Given the description of an element on the screen output the (x, y) to click on. 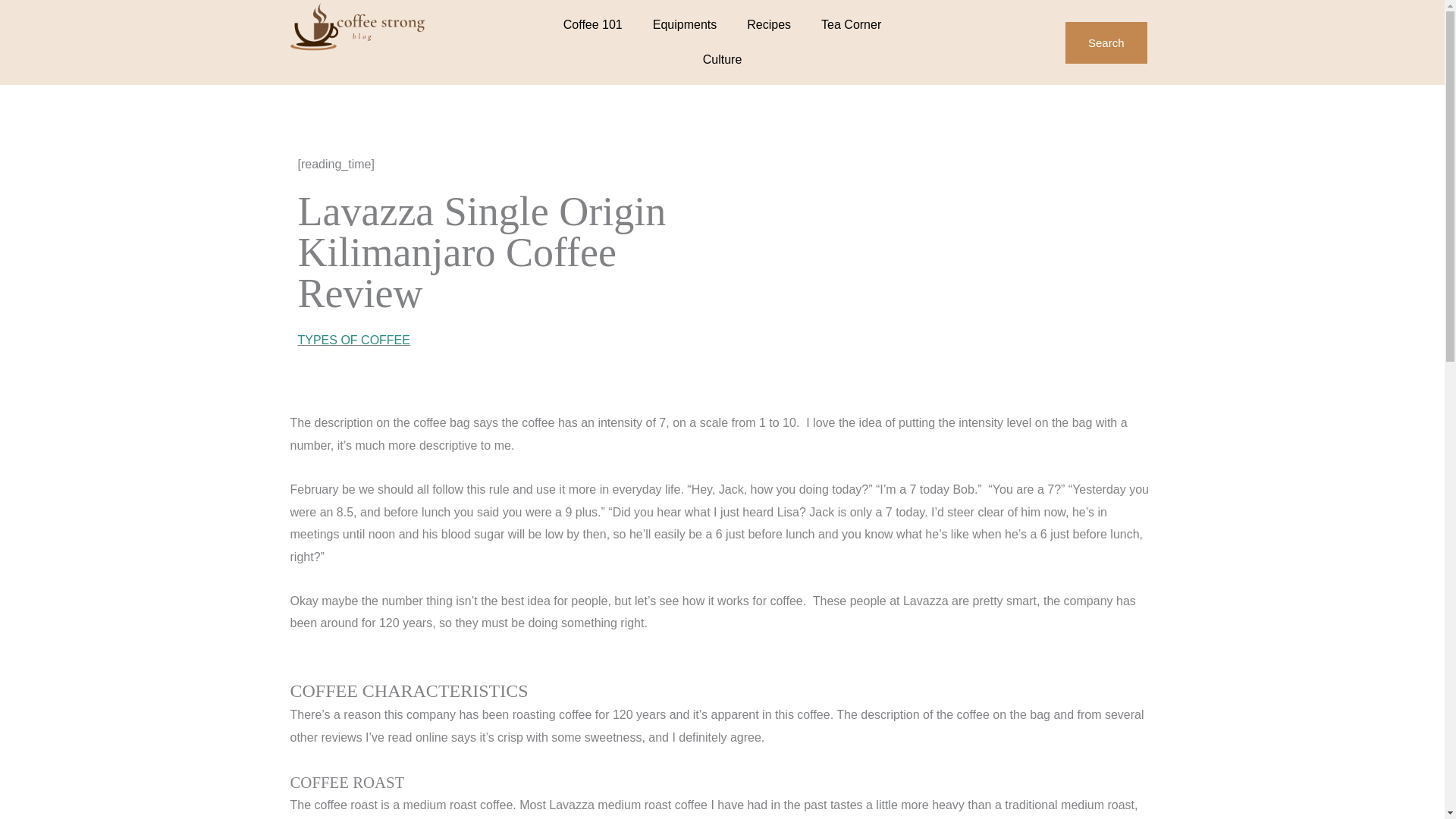
Equipments (684, 24)
Tea Corner (851, 24)
Culture (722, 59)
Search (1106, 42)
Recipes (769, 24)
Coffee 101 (592, 24)
TYPES OF COFFEE (353, 339)
